Given the description of an element on the screen output the (x, y) to click on. 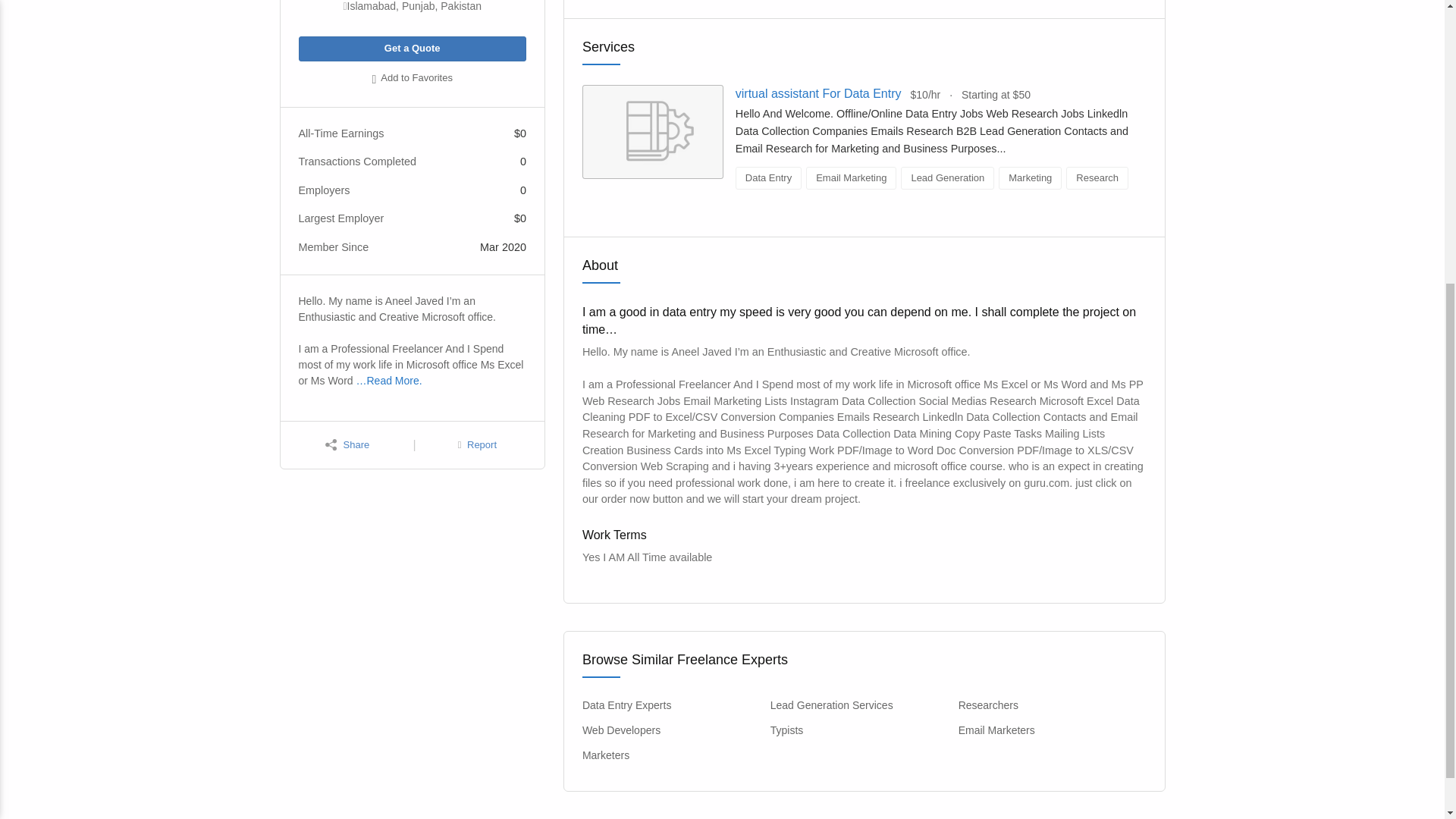
Add to Favorites (411, 79)
Report (477, 445)
Share (347, 445)
Get a Quote (411, 48)
